Given the description of an element on the screen output the (x, y) to click on. 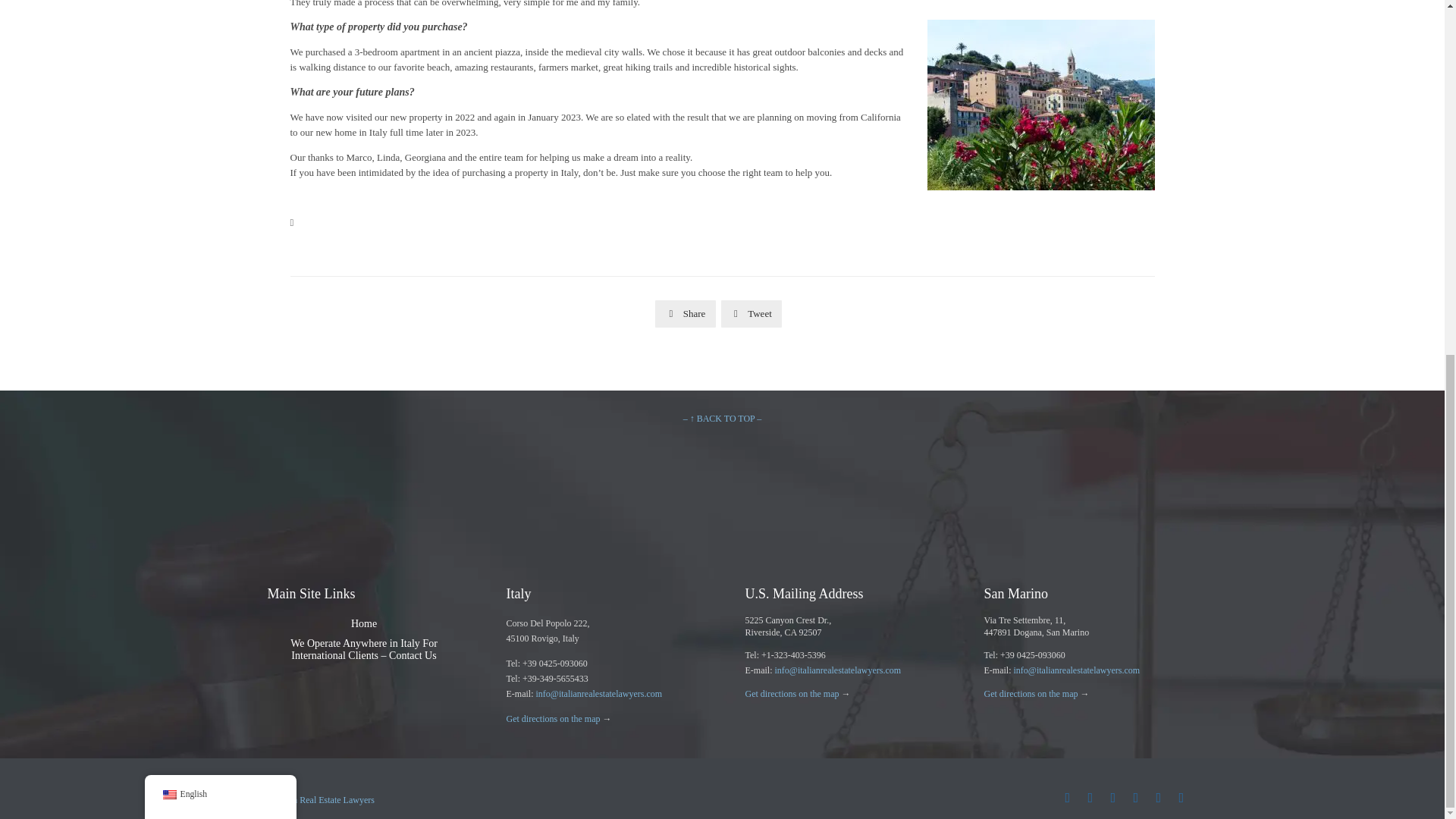
Share on Twitter (750, 314)
English (168, 172)
Share on Facebook (685, 314)
